Given the description of an element on the screen output the (x, y) to click on. 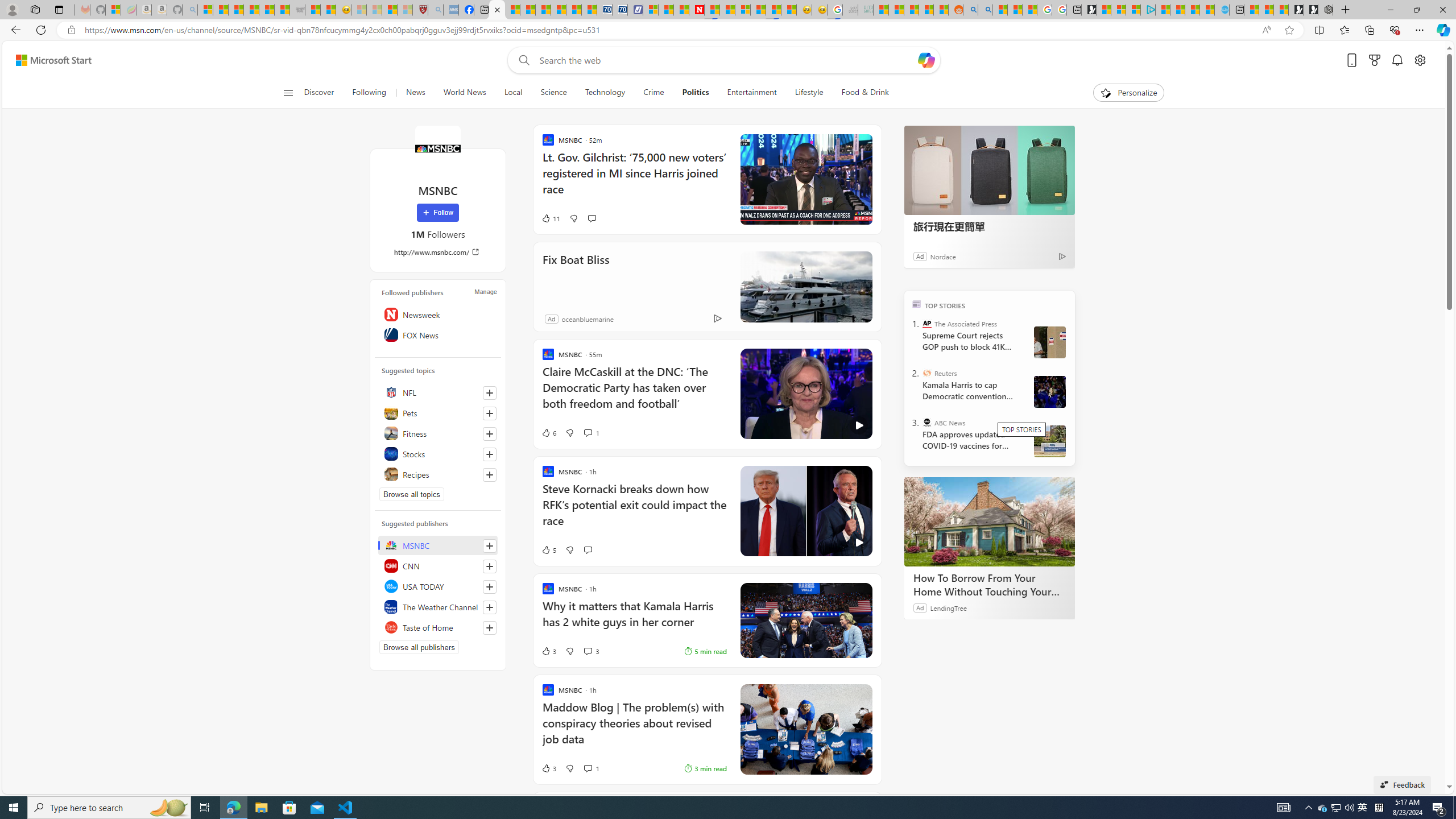
Class: hero-image (805, 511)
ABC News (927, 422)
 Harris and Walz campaign in Wisconsin (1049, 391)
